Given the description of an element on the screen output the (x, y) to click on. 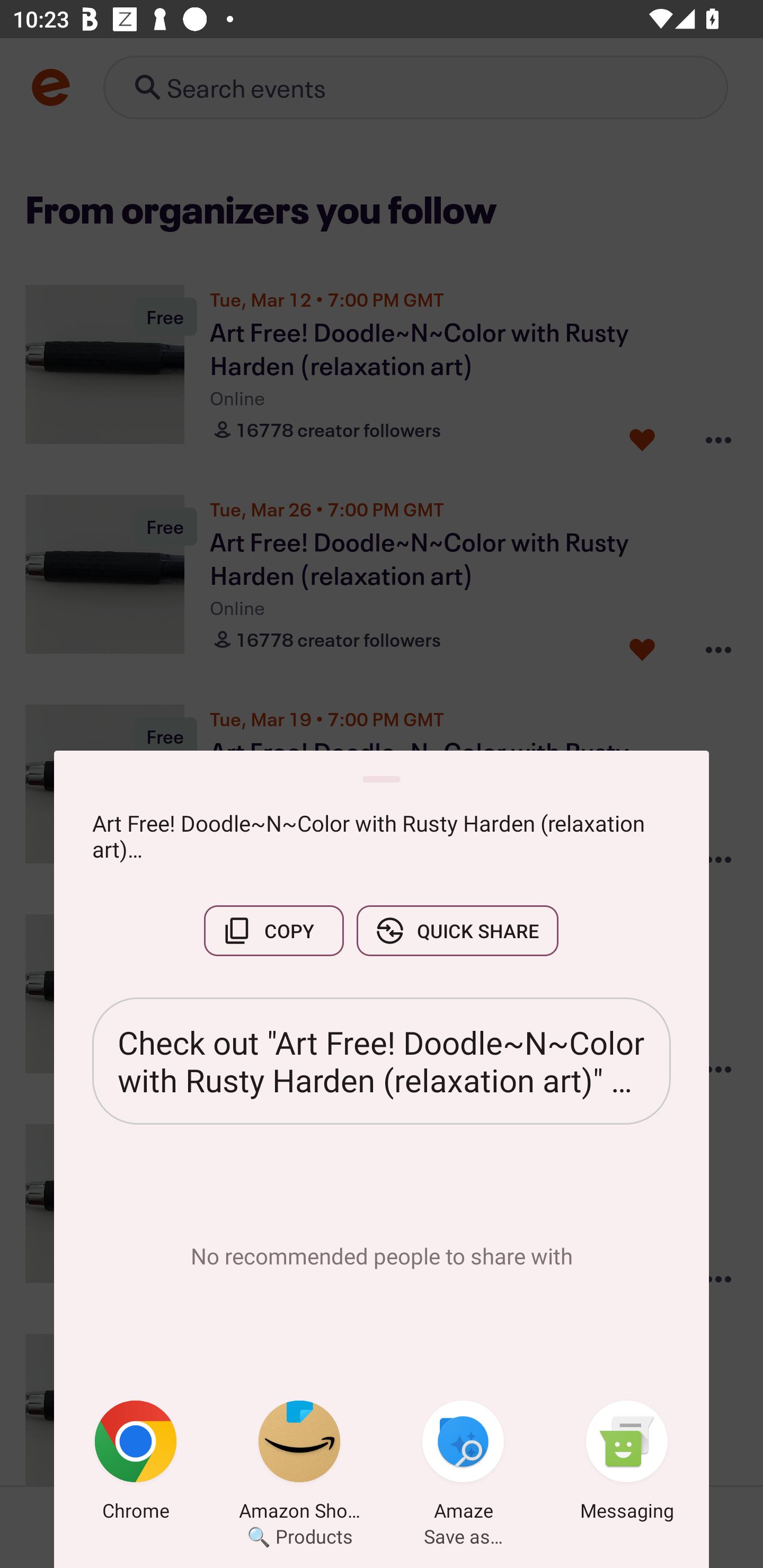
COPY (273, 930)
QUICK SHARE (457, 930)
Chrome (135, 1463)
Amazon Shopping 🔍 Products (299, 1463)
Amaze Save as… (463, 1463)
Messaging (626, 1463)
